Given the description of an element on the screen output the (x, y) to click on. 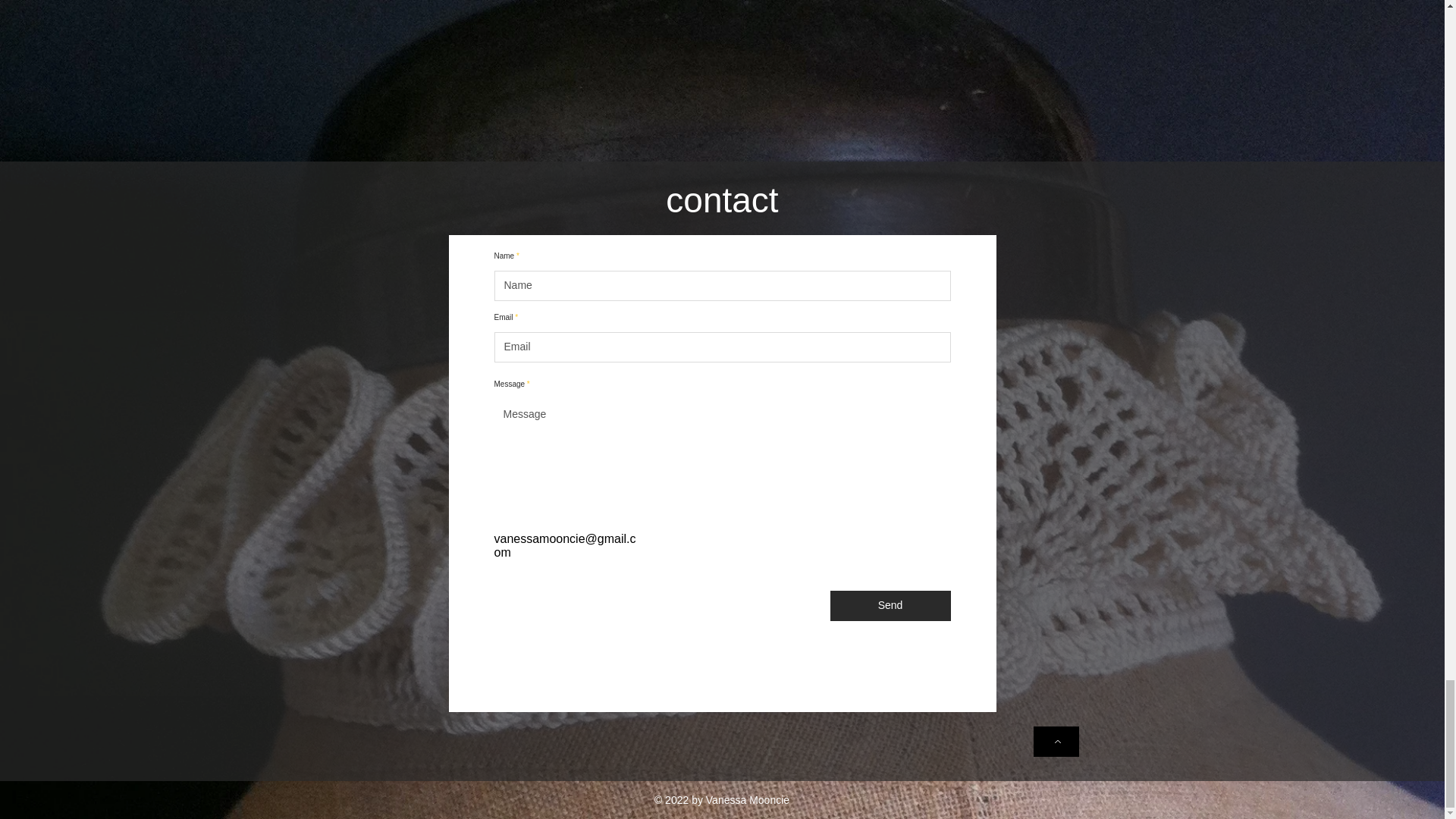
Send (889, 605)
